Given the description of an element on the screen output the (x, y) to click on. 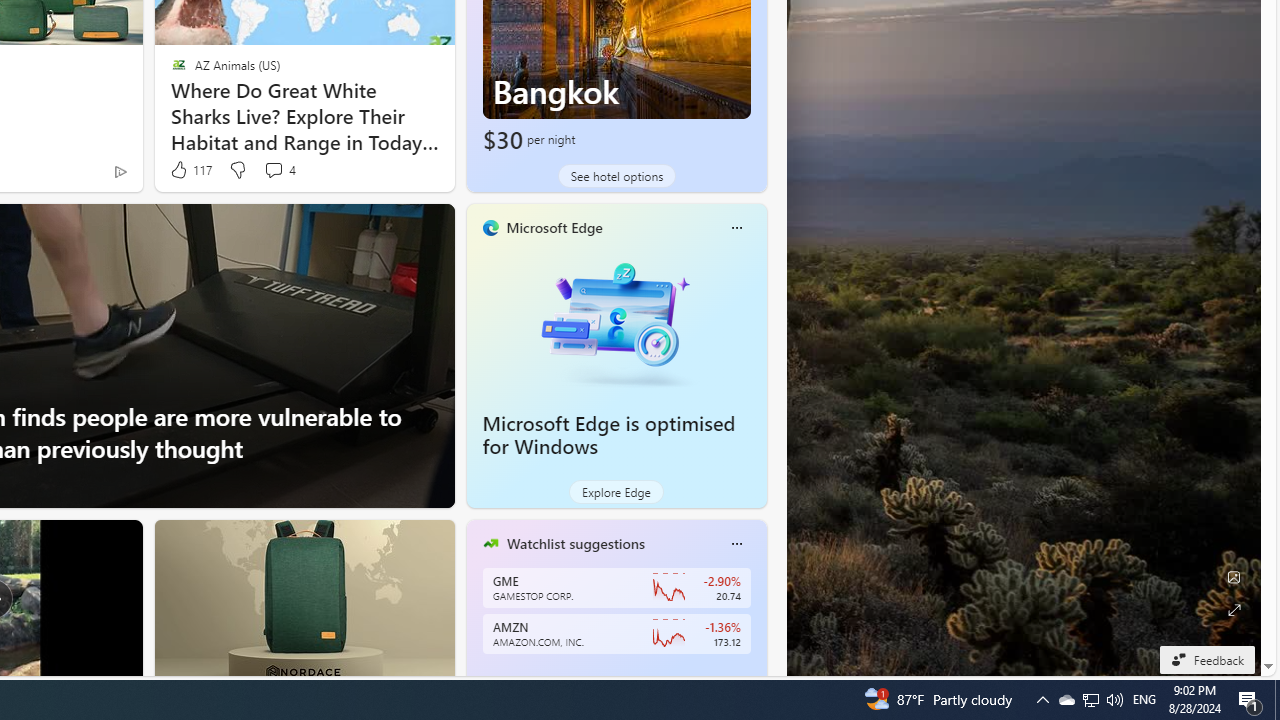
117 Like (190, 170)
Class: icon-img (736, 543)
